Given the description of an element on the screen output the (x, y) to click on. 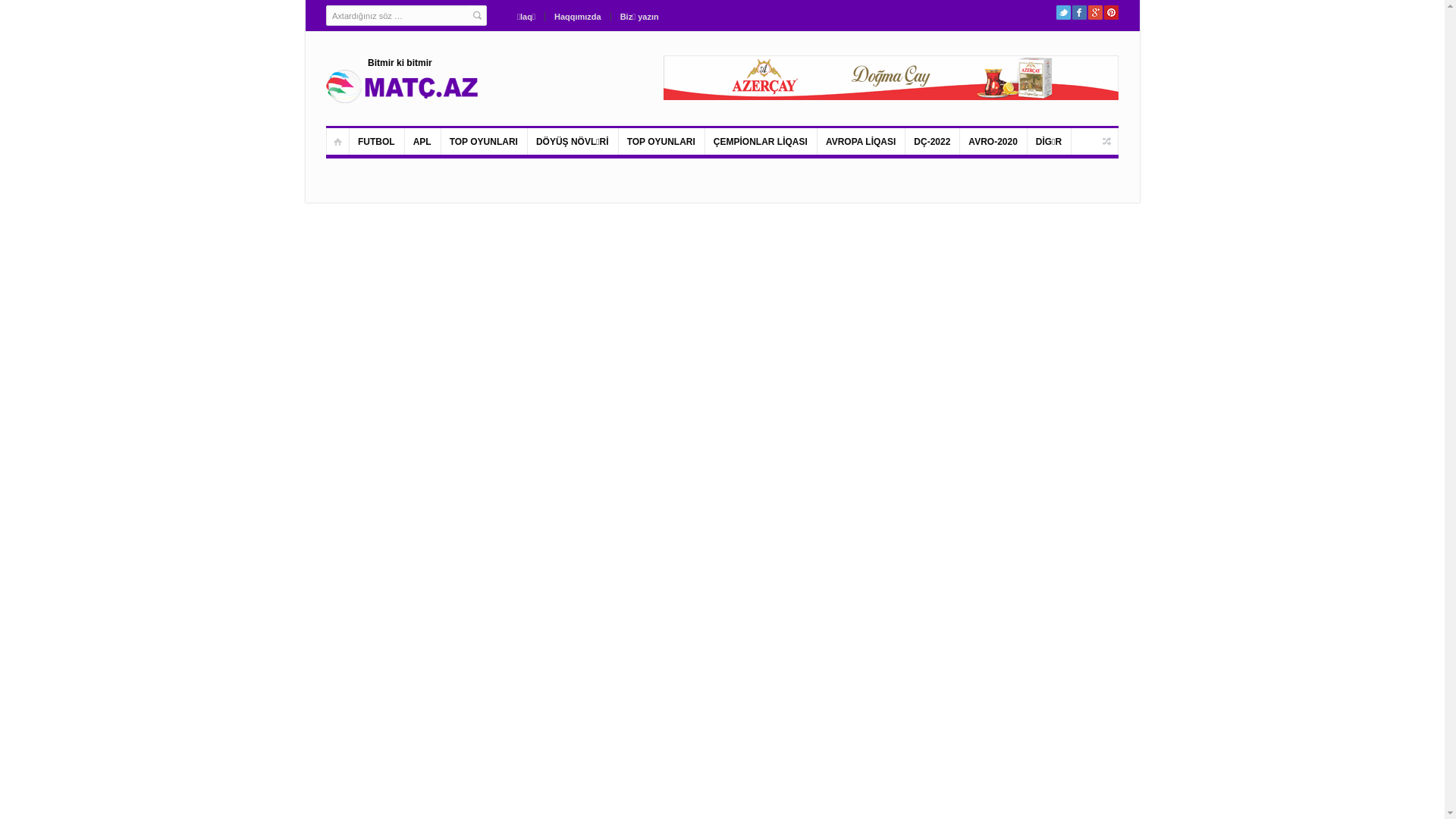
FUTBOL Element type: text (376, 141)
Facebook Element type: text (1079, 12)
TOP OYUNLARI Element type: text (484, 141)
Pinterest Element type: text (1111, 12)
Google+ Element type: text (1095, 12)
AVRO-2020 Element type: text (993, 141)
APL Element type: text (422, 141)
Twitter Element type: text (1063, 12)
TOP OYUNLARI Element type: text (661, 141)
Axtar Element type: text (477, 15)
